Given the description of an element on the screen output the (x, y) to click on. 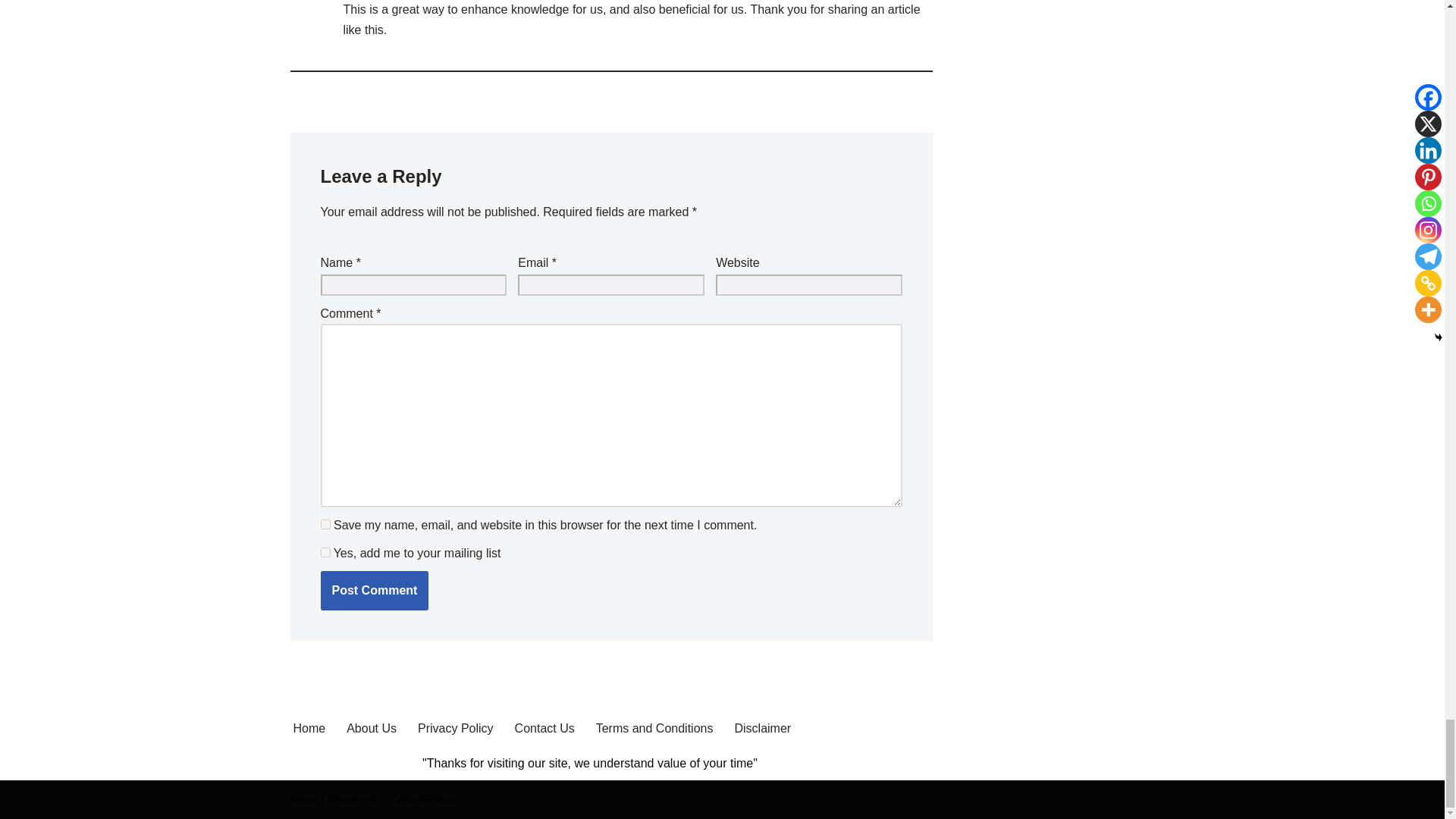
1 (325, 552)
yes (325, 524)
Post Comment (374, 590)
